Given the description of an element on the screen output the (x, y) to click on. 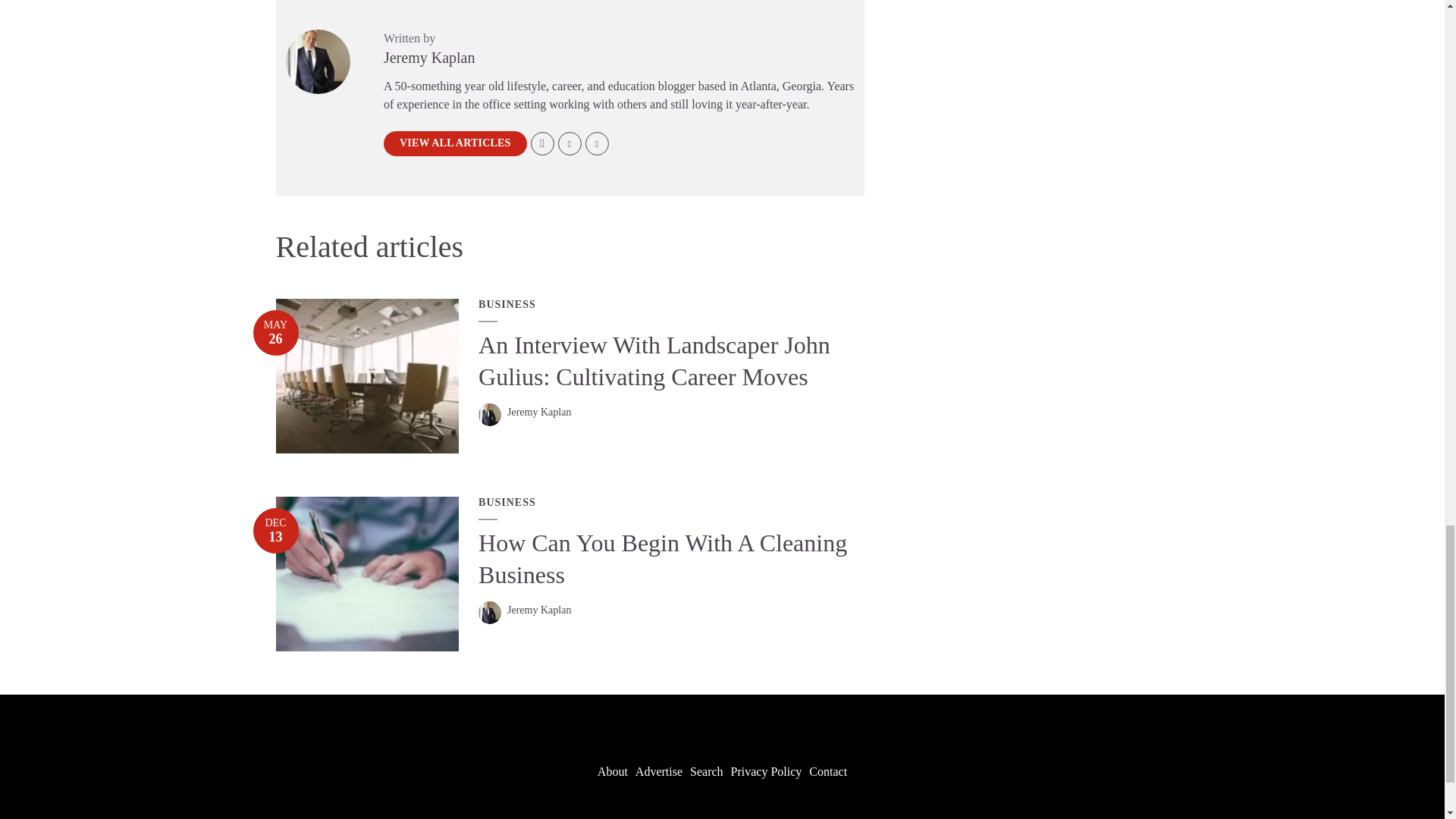
How Can You Begin With A Cleaning Business 3 (368, 573)
VIEW ALL ARTICLES (455, 143)
